Given the description of an element on the screen output the (x, y) to click on. 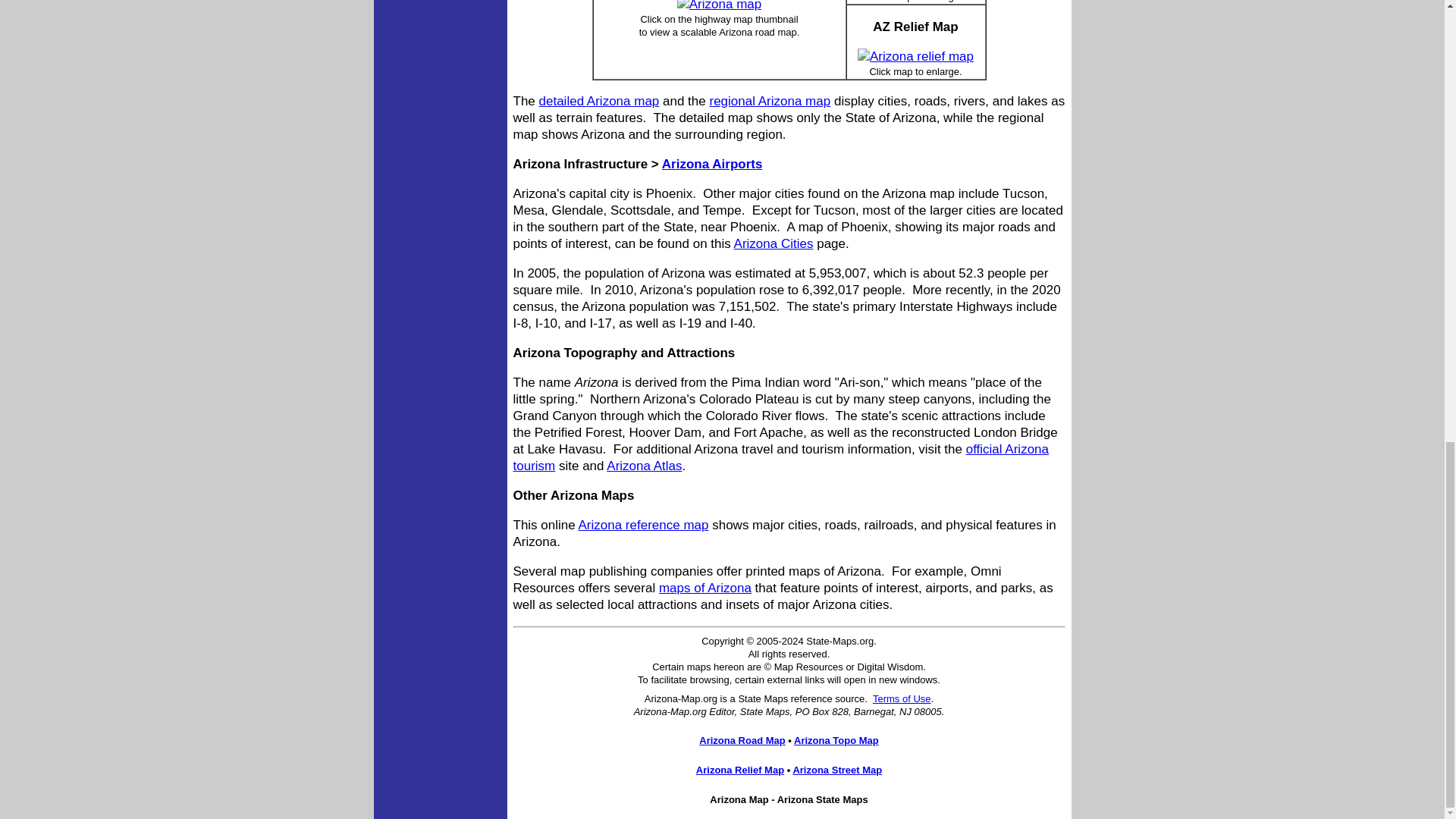
Arizona Street Map (837, 769)
Terms of Use (901, 697)
Arizona Relief Map (739, 769)
regional Arizona map (769, 101)
Arizona Cities (773, 243)
Arizona Atlas (644, 465)
maps of Arizona (705, 587)
Arizona Airports (712, 164)
Arizona reference map (642, 524)
Arizona Road Map (741, 740)
official Arizona tourism (780, 457)
detailed Arizona map (598, 101)
Arizona Topo Map (836, 740)
